Given the description of an element on the screen output the (x, y) to click on. 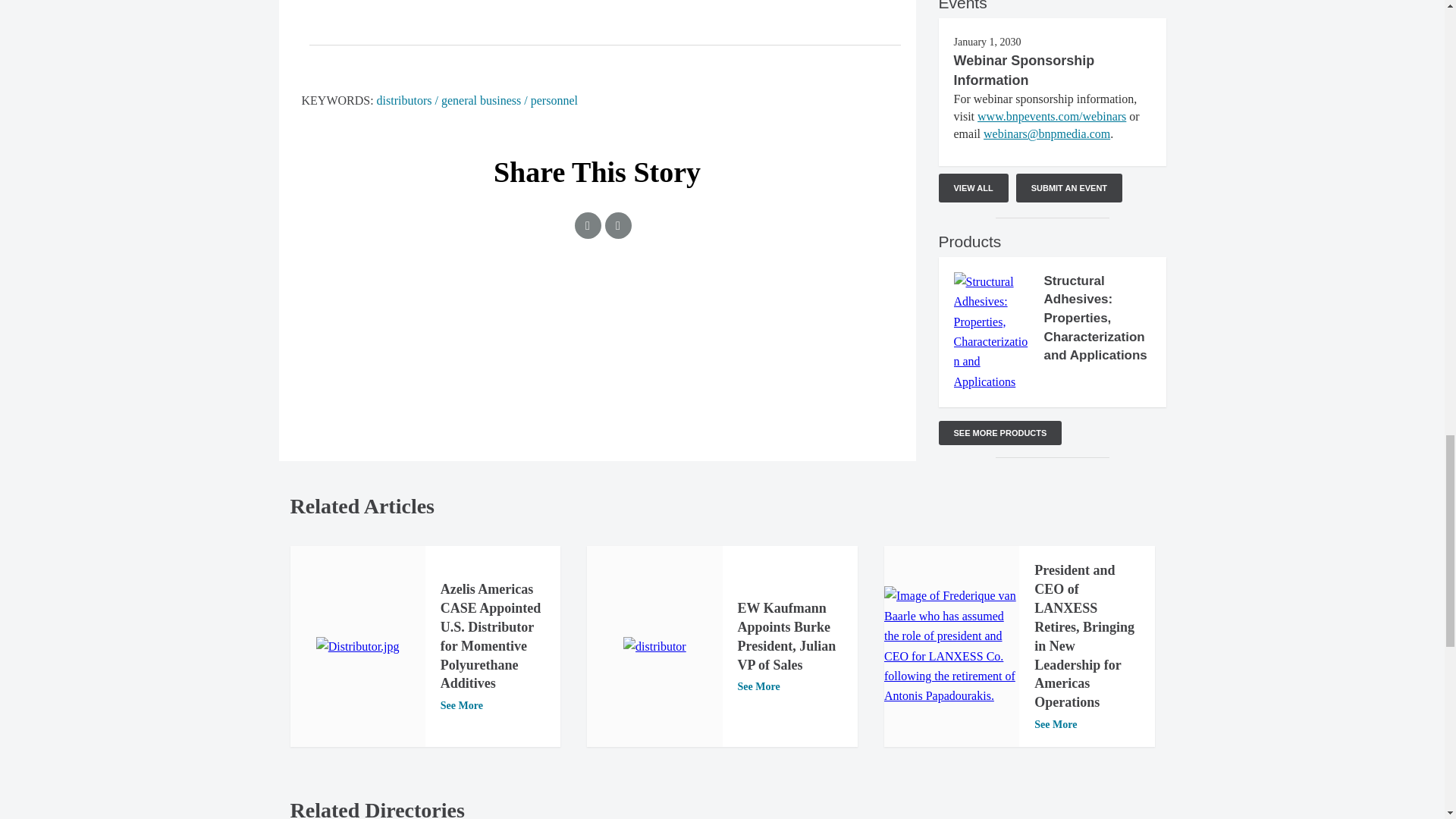
Webinar Sponsorship Information (1023, 70)
Interaction questions (597, 344)
distributor (654, 646)
Distributor.jpg (356, 646)
LAXNESS Personnel.jpg (951, 645)
